Given the description of an element on the screen output the (x, y) to click on. 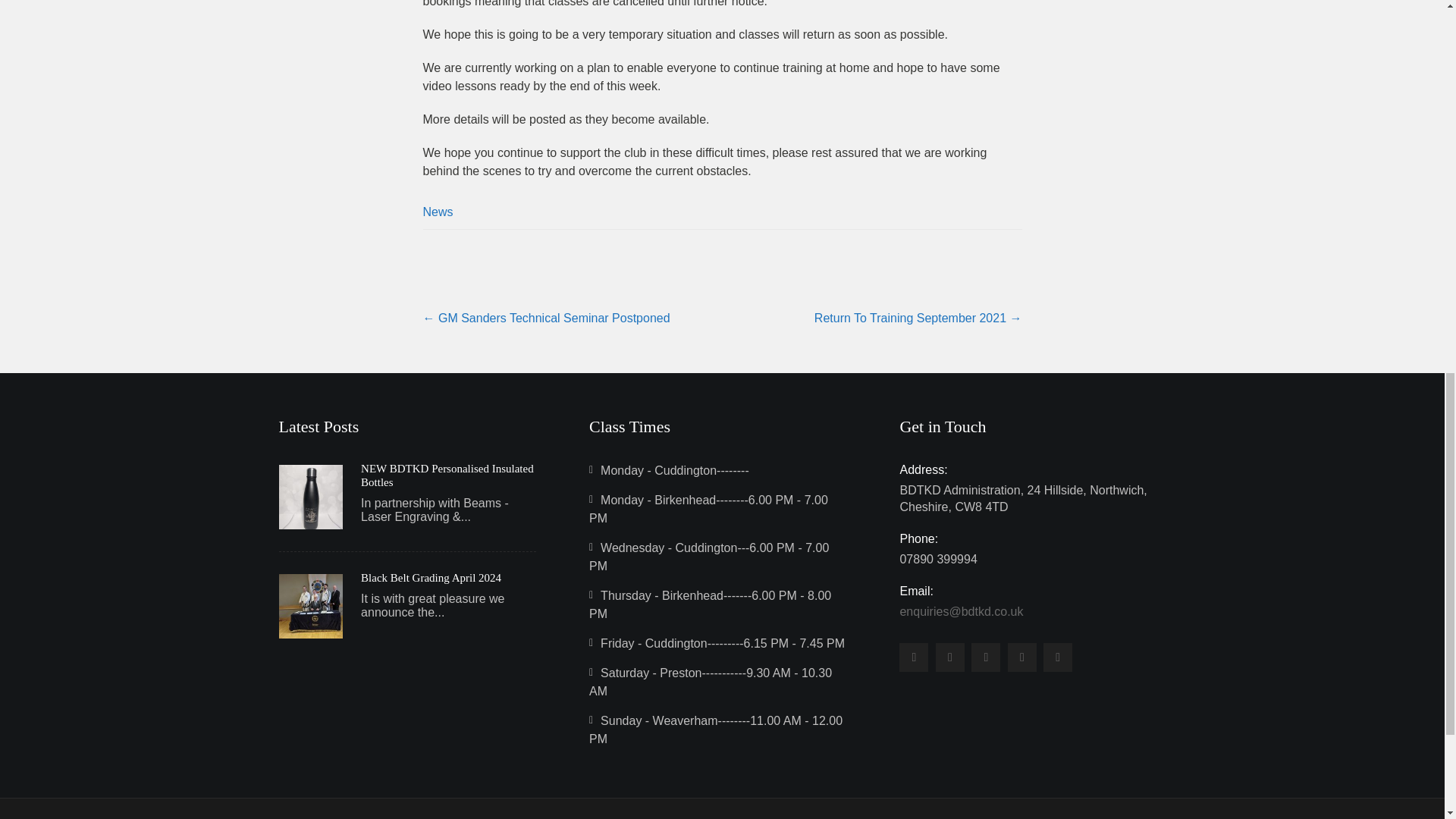
Black Belt Grading April 2024 (430, 577)
fab fa-facebook-f (1057, 656)
fab fa-facebook-f (985, 656)
fab fa-facebook-f (1021, 656)
View all posts in News (437, 211)
fab fa-facebook-f (949, 656)
News (437, 211)
NEW BDTKD Personalised Insulated Bottles (448, 474)
fab fa-twitter (913, 656)
